Given the description of an element on the screen output the (x, y) to click on. 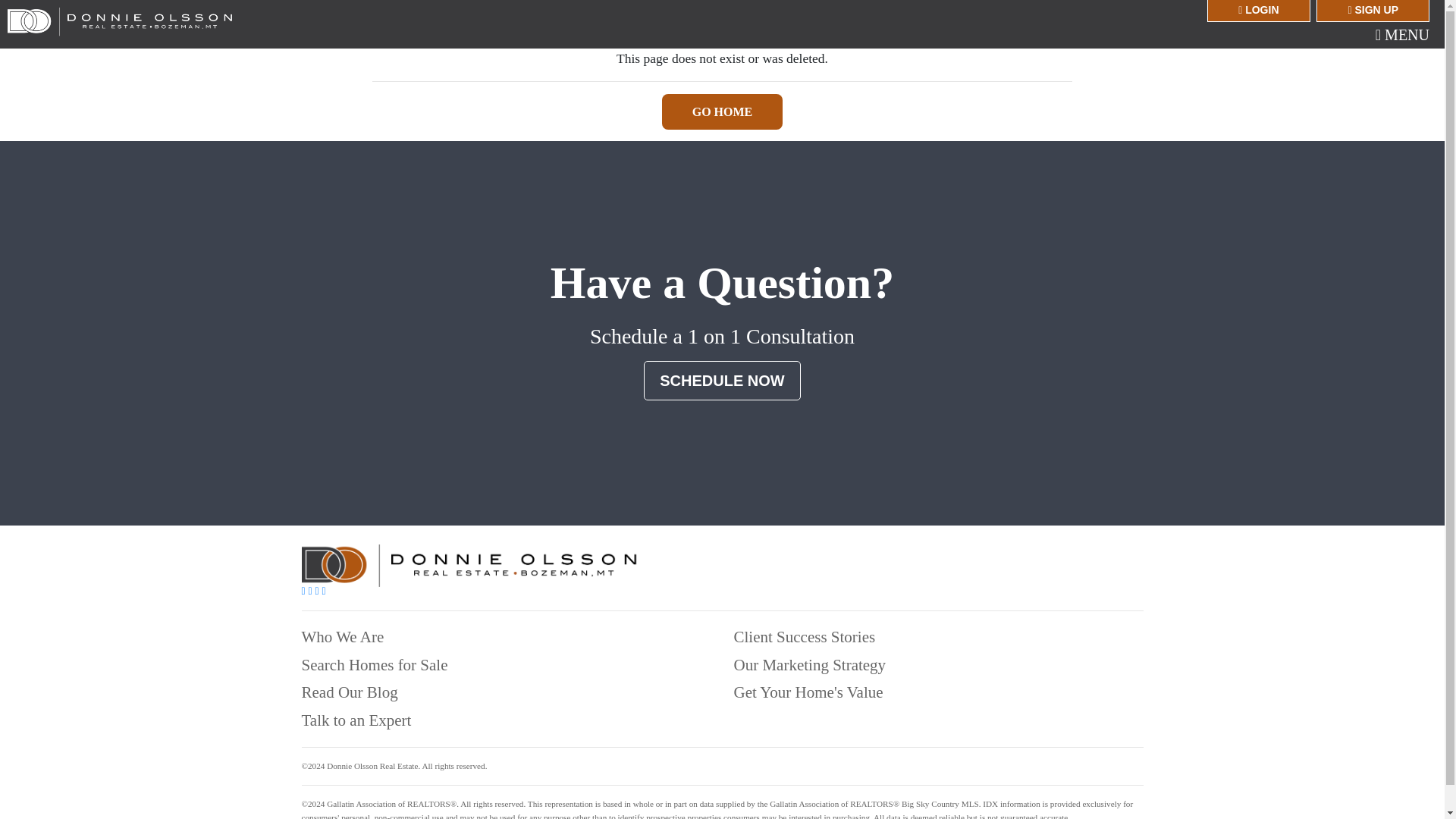
SIGN UP (1372, 11)
SCHEDULE NOW (721, 380)
Our Marketing Strategy (809, 665)
Get Your Home's Value (808, 692)
Talk to an Expert (356, 720)
Client Success Stories (804, 637)
Search Homes for Sale (374, 665)
LOGIN (1257, 11)
Who We Are (342, 637)
GO HOME (722, 111)
